Given the description of an element on the screen output the (x, y) to click on. 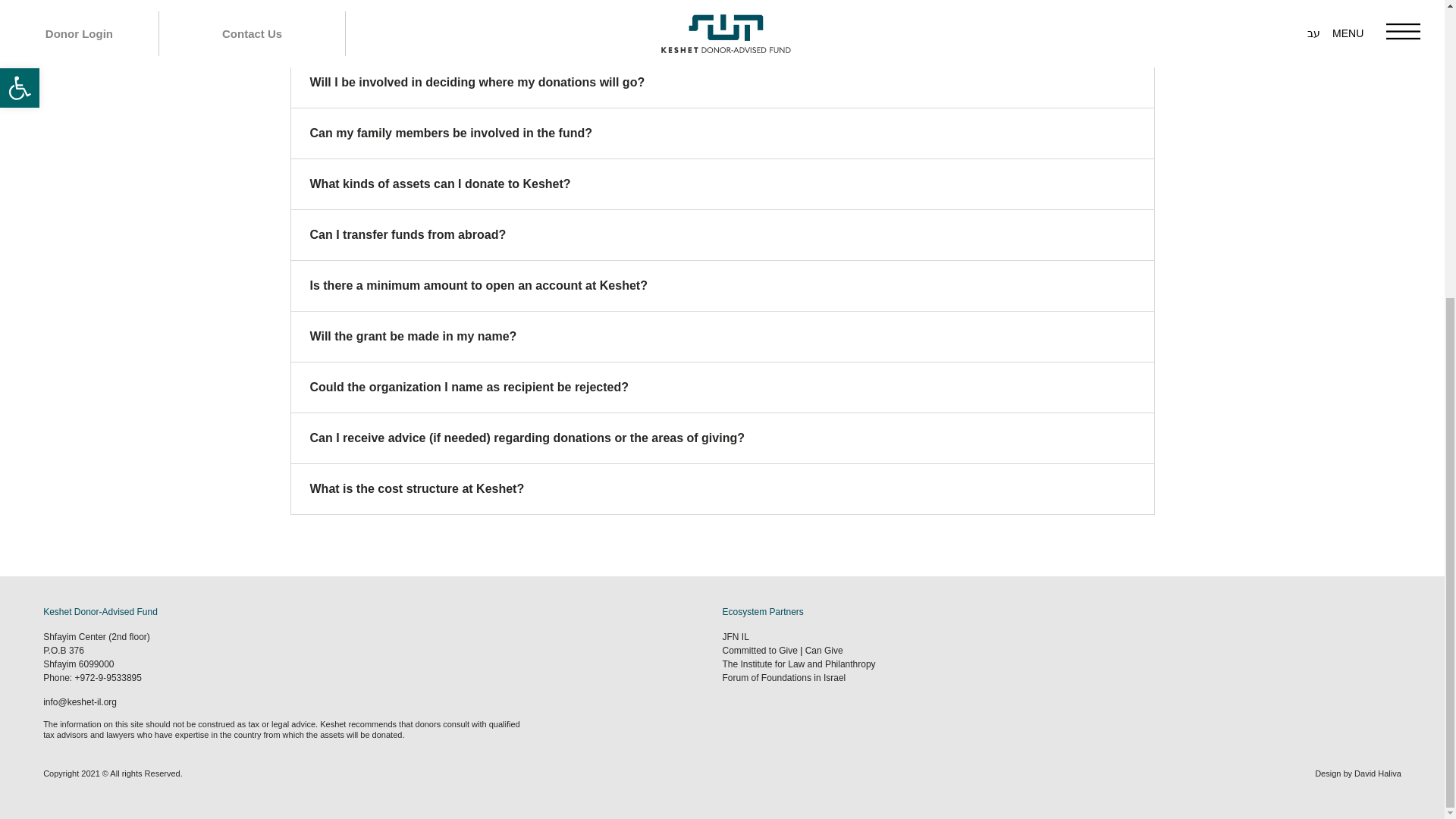
Can my family members be involved in the fund? (450, 132)
Who can open a DAF account at Keshet? (427, 31)
What kinds of assets can I donate to Keshet? (439, 183)
Will I be involved in deciding where my donations will go? (476, 82)
Can I transfer funds from abroad? (406, 234)
